Given the description of an element on the screen output the (x, y) to click on. 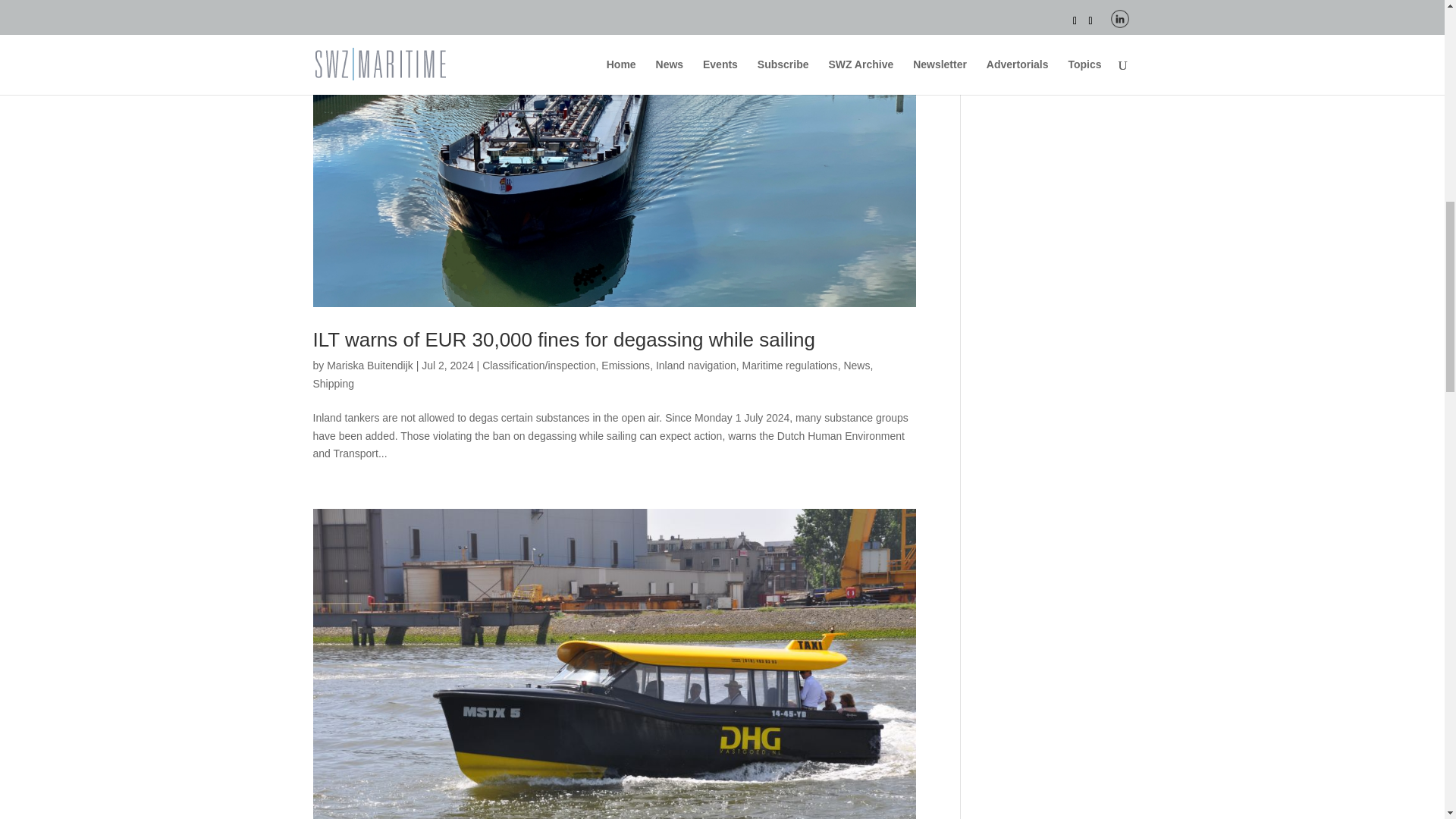
ILT warns of EUR 30,000 fines for degassing while sailing (563, 339)
Posts by Mariska Buitendijk (369, 365)
Emissions (625, 365)
Shipping (333, 383)
Inland navigation (696, 365)
Maritime regulations (790, 365)
Mariska Buitendijk (369, 365)
News (856, 365)
